Given the description of an element on the screen output the (x, y) to click on. 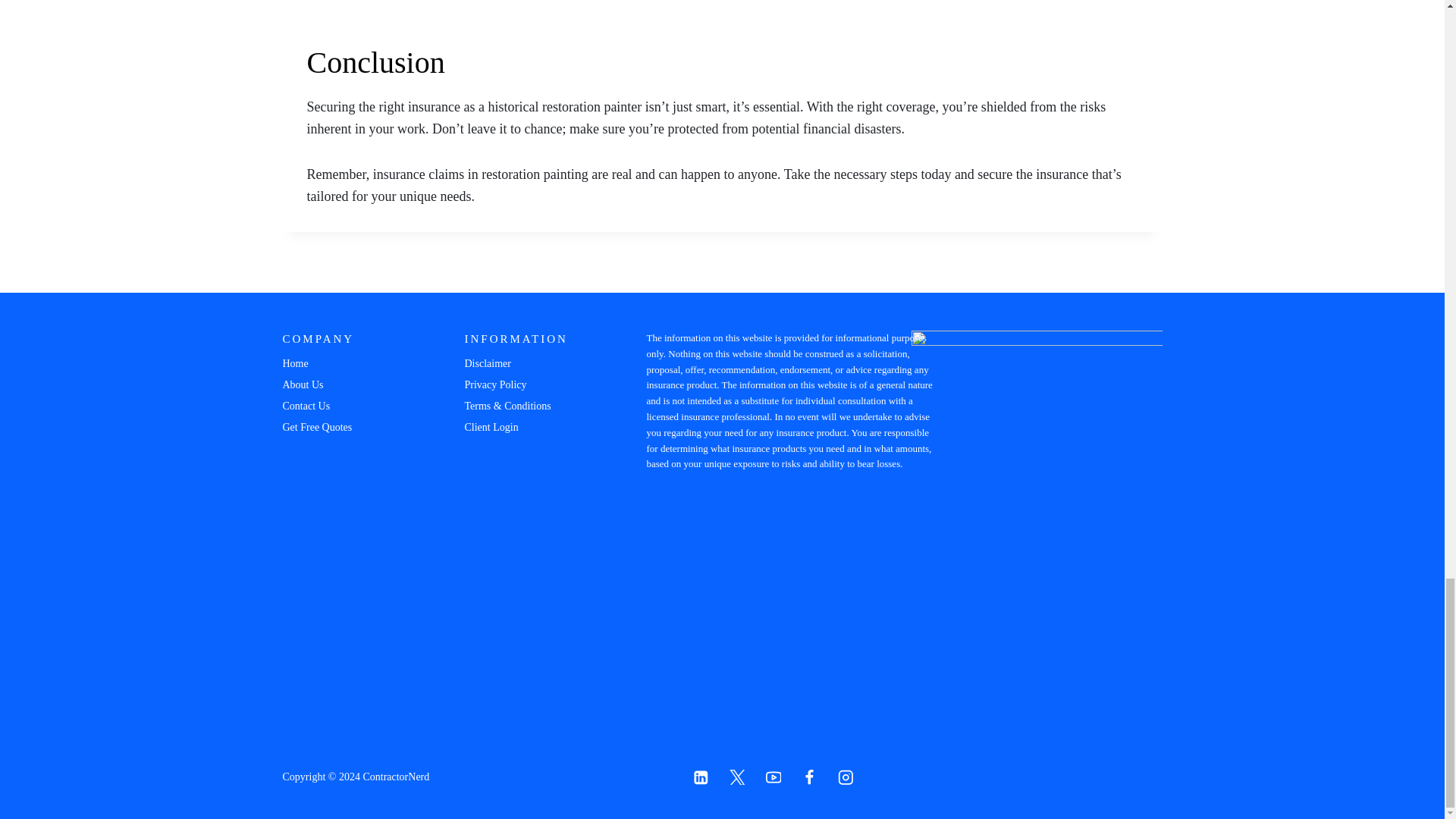
Client Login (517, 427)
Home (339, 363)
Get Free Quotes (339, 427)
Privacy Policy (517, 384)
Contact Us (339, 405)
Disclaimer (517, 363)
About Us (339, 384)
